Given the description of an element on the screen output the (x, y) to click on. 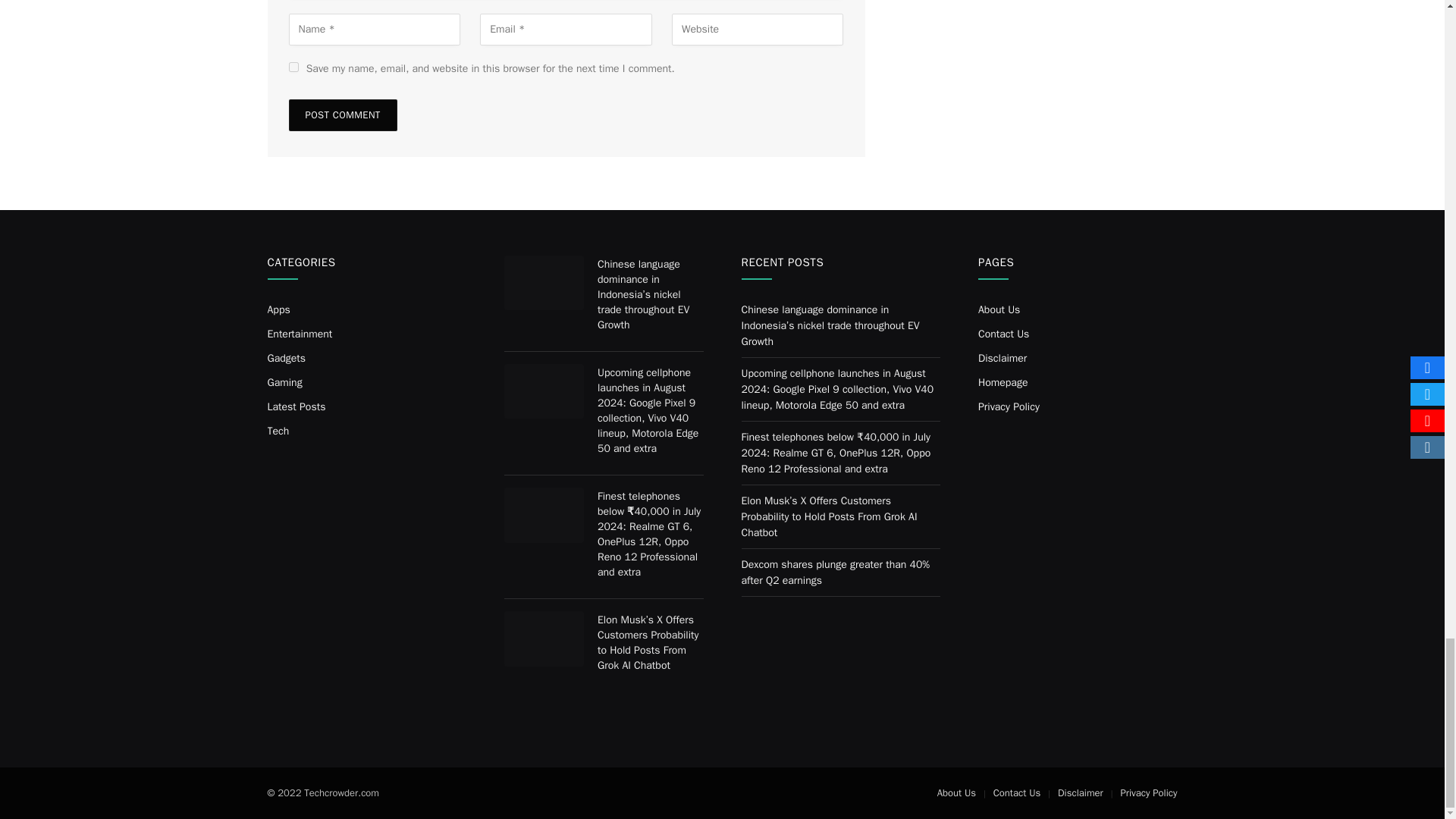
yes (293, 67)
Post Comment (342, 115)
